Given the description of an element on the screen output the (x, y) to click on. 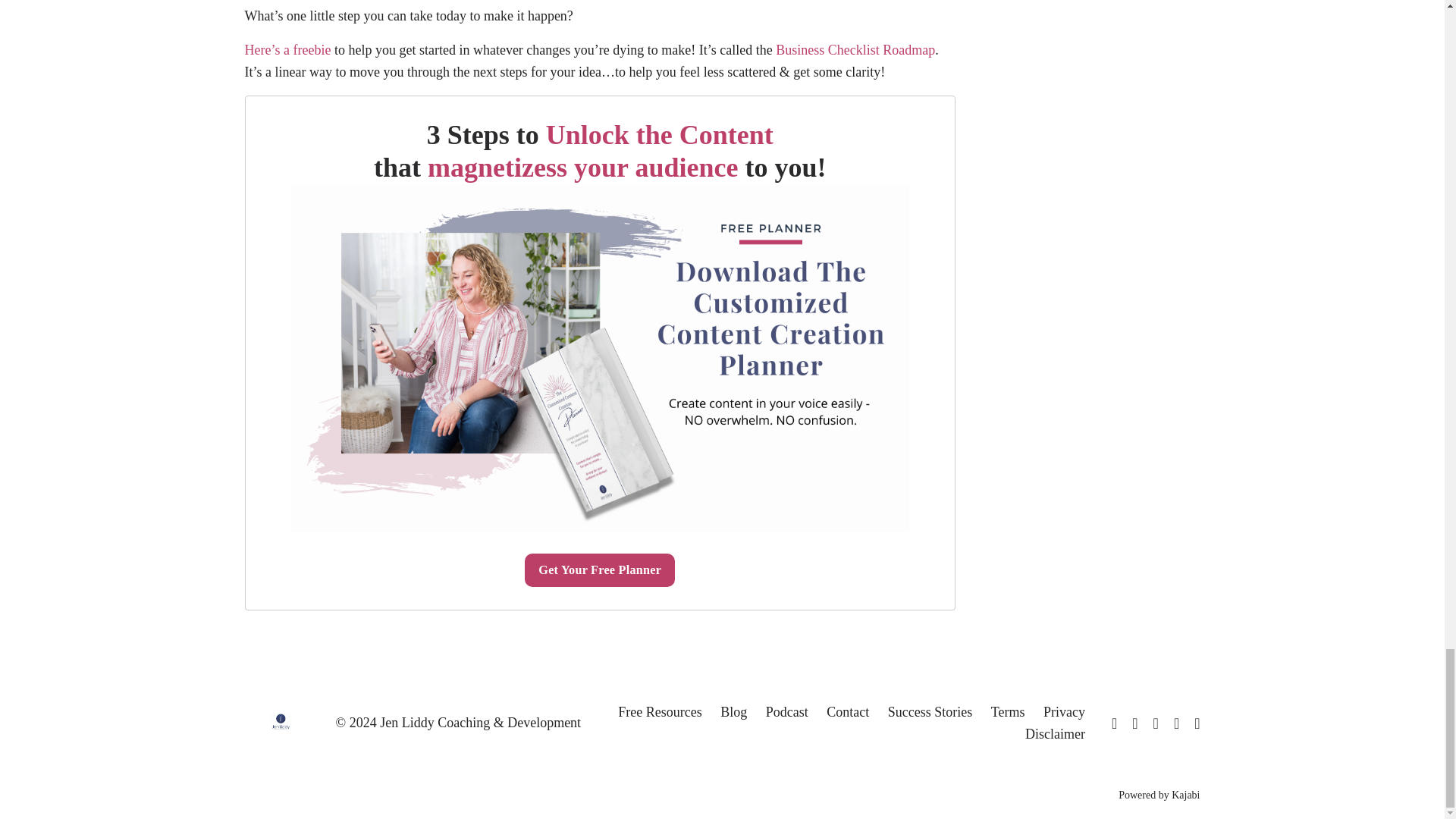
Business Checklist Roadmap (854, 49)
Powered by Kajabi (1158, 794)
Success Stories (930, 711)
Blog (733, 711)
Disclaimer (1054, 734)
Terms (1008, 711)
Free Resources (659, 711)
Privacy (1063, 711)
Get Your Free Planner (599, 570)
Contact (848, 711)
Podcast (786, 711)
